Given the description of an element on the screen output the (x, y) to click on. 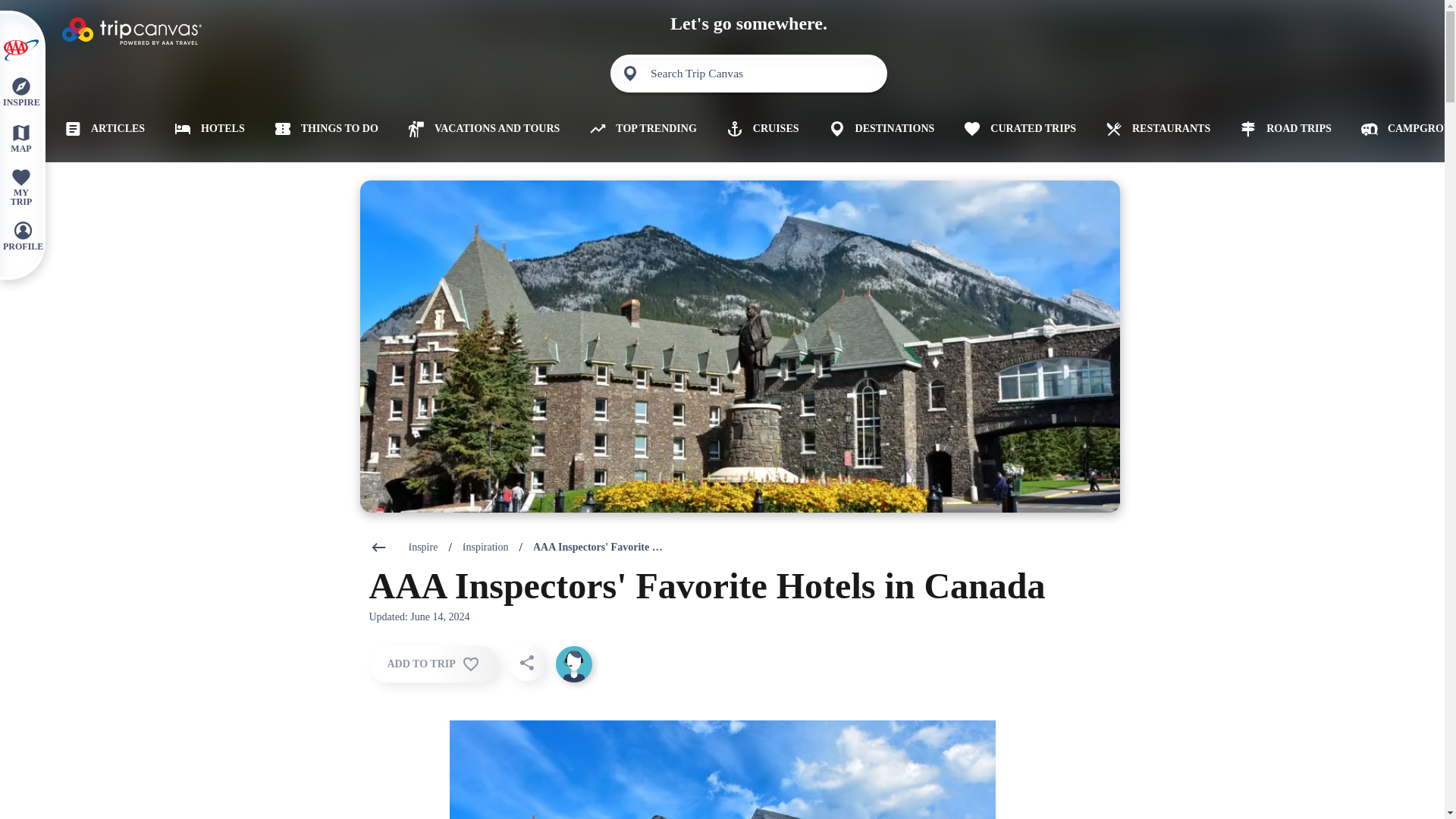
INSPIRE (20, 91)
AAA Inspectors' Favorite Hotels in Canada (599, 547)
Inspire (422, 547)
AAA Inspectors' Favorite Hotels in Canada (599, 547)
MAP (20, 137)
VACATIONS AND TOURS (477, 128)
CRUISES (756, 128)
ARTICLES (98, 128)
THINGS TO DO (320, 128)
OPEN CLUB MENU (20, 49)
DESTINATIONS (875, 128)
PROFILE (22, 235)
TOP TRENDING (636, 128)
Inspiration (485, 547)
RESTAURANTS (1151, 128)
